Given the description of an element on the screen output the (x, y) to click on. 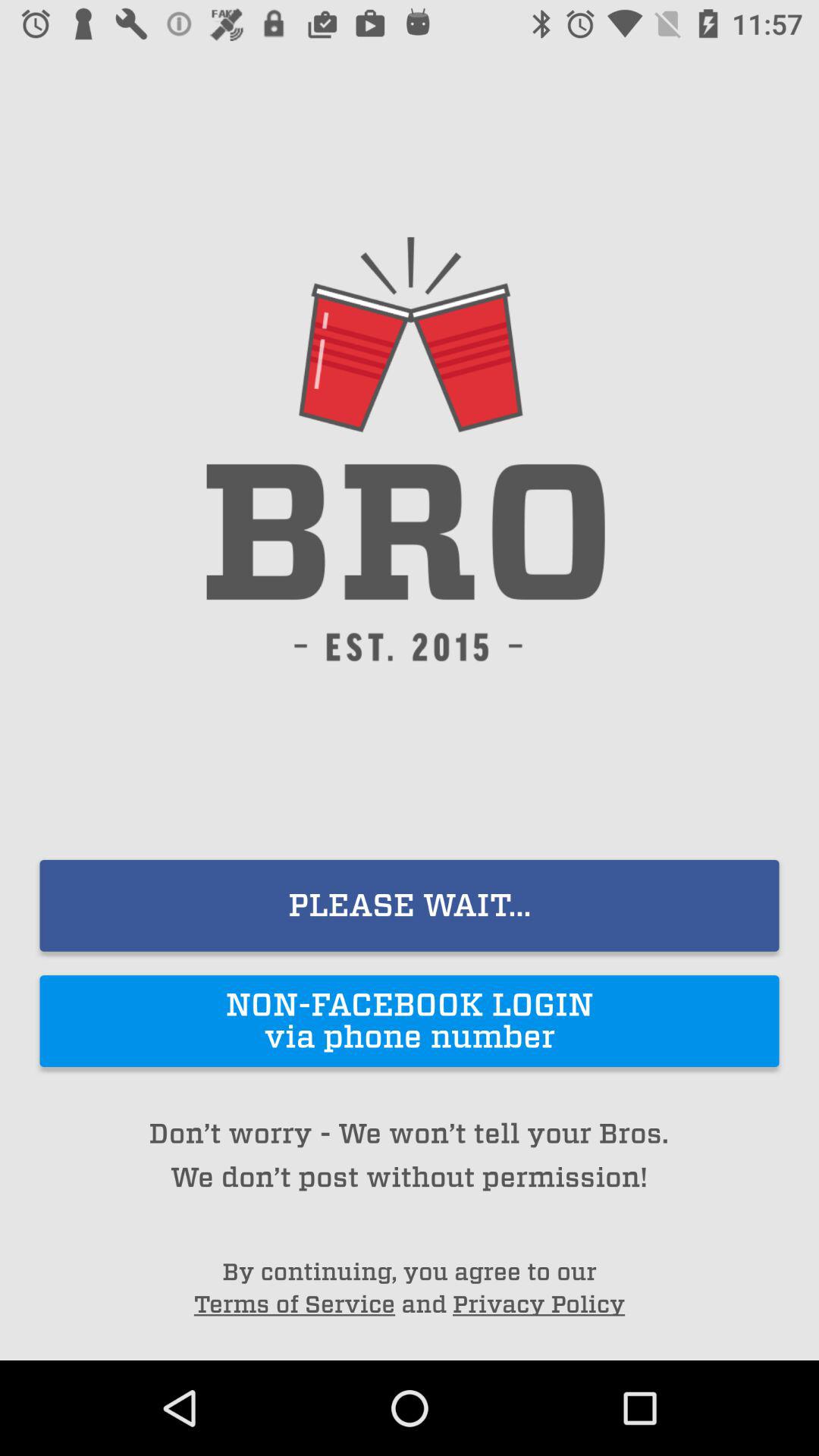
turn on the terms of service item (294, 1304)
